Given the description of an element on the screen output the (x, y) to click on. 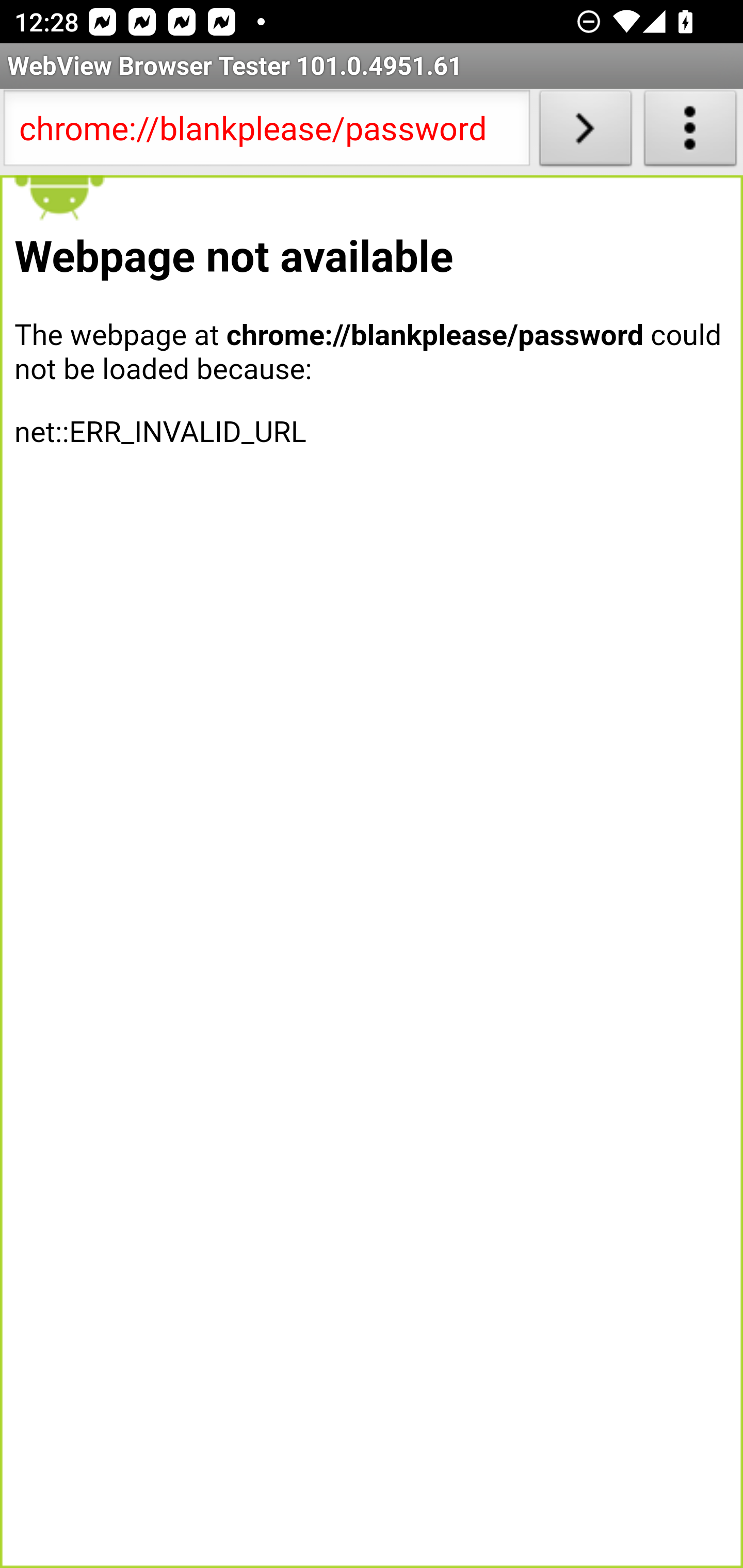
chrome://blankplease/password (266, 132)
Load URL (585, 132)
About WebView (690, 132)
